Given the description of an element on the screen output the (x, y) to click on. 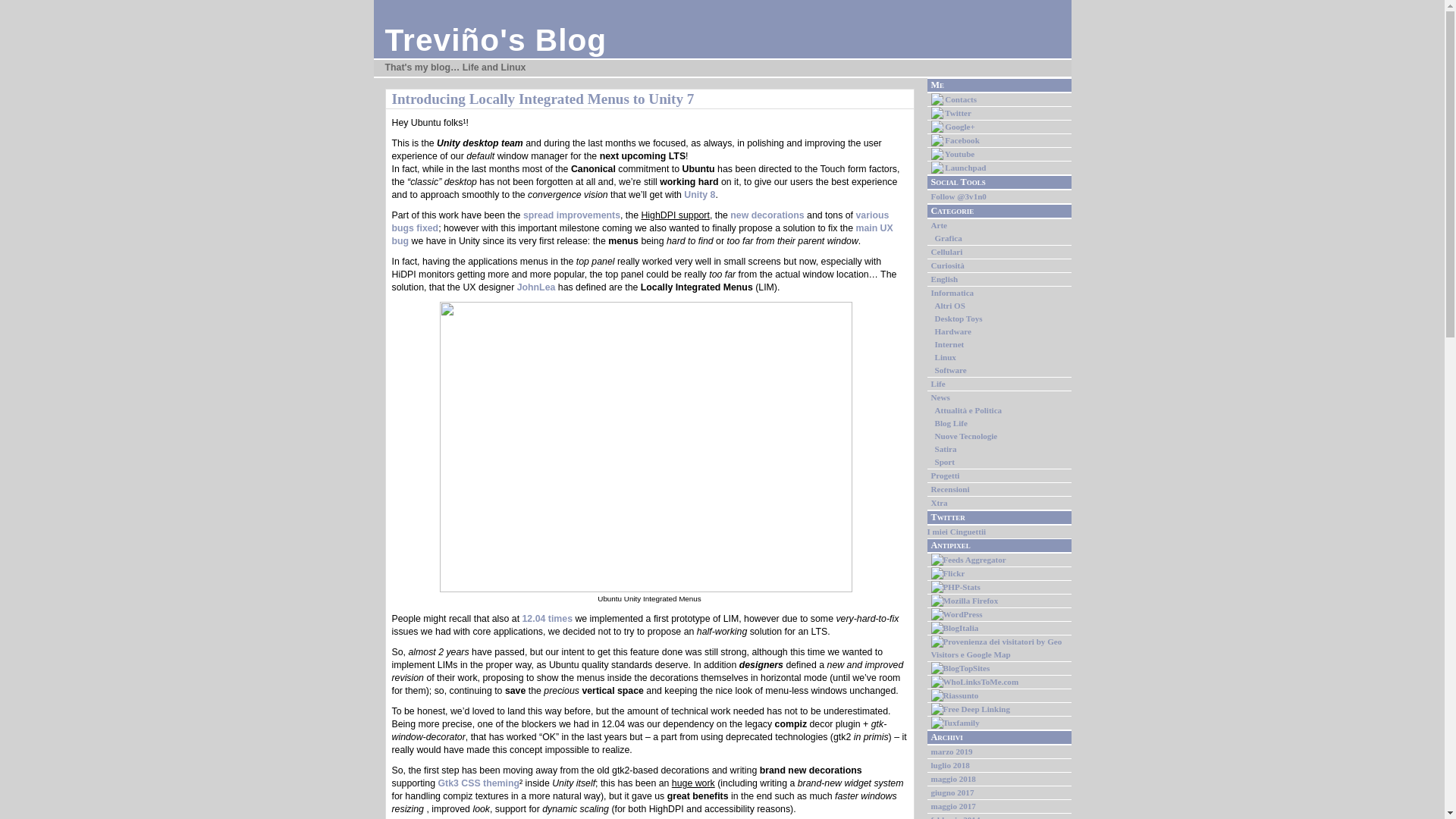
I miei Cinguettii (955, 531)
Satira (945, 448)
Life (937, 383)
Linux (944, 356)
Blog Life (950, 422)
Recensioni (950, 488)
Nuove Tecnologie (965, 435)
Sport (943, 461)
Informatica (952, 292)
Desktop Toys (957, 317)
